Given the description of an element on the screen output the (x, y) to click on. 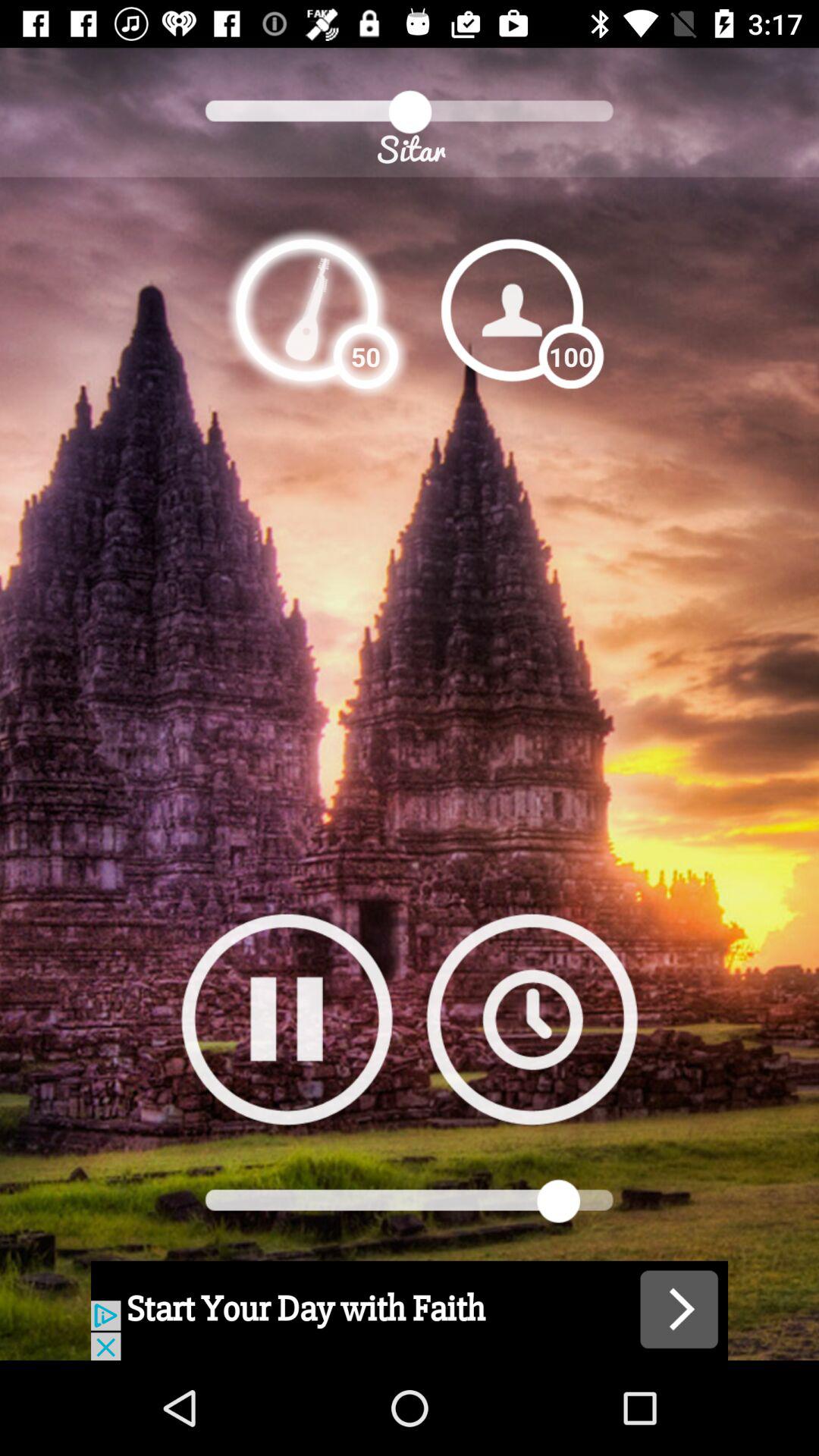
select timer (531, 1018)
